Given the description of an element on the screen output the (x, y) to click on. 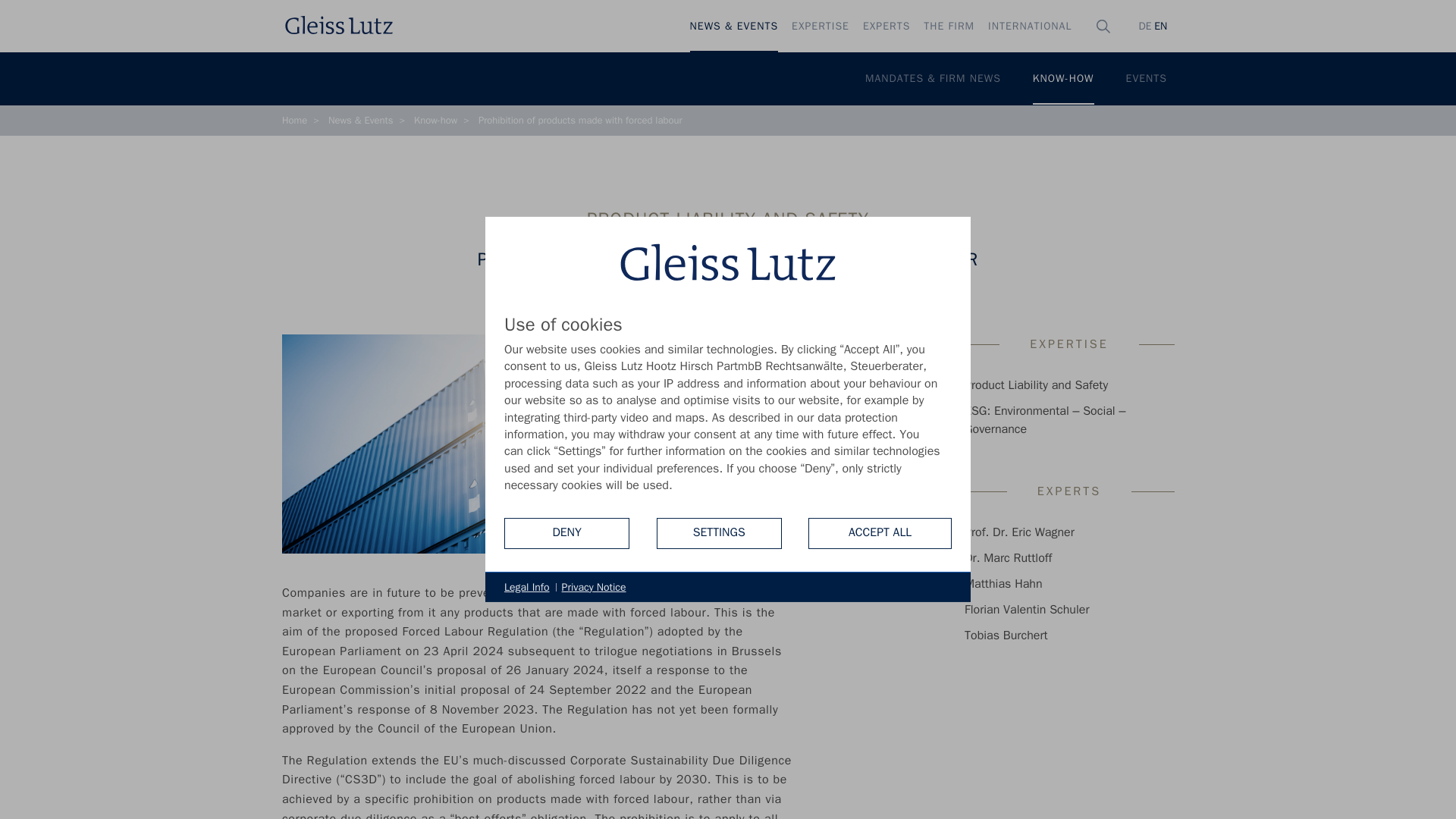
Home (294, 120)
Product Liability and Safety (1035, 385)
EXPERTISE (820, 26)
THE FIRM (949, 26)
INTERNATIONAL (1029, 26)
Matthias Hahn (1002, 584)
EXPERTS (886, 26)
Prof. Dr. Eric Wagner (1018, 532)
KNOW-HOW (1063, 78)
Dr. Marc Ruttloff (1007, 558)
Florian Valentin Schuler (1026, 609)
Search (1109, 96)
Tobias Burchert (1005, 635)
Know-how (435, 120)
EVENTS (1146, 78)
